Given the description of an element on the screen output the (x, y) to click on. 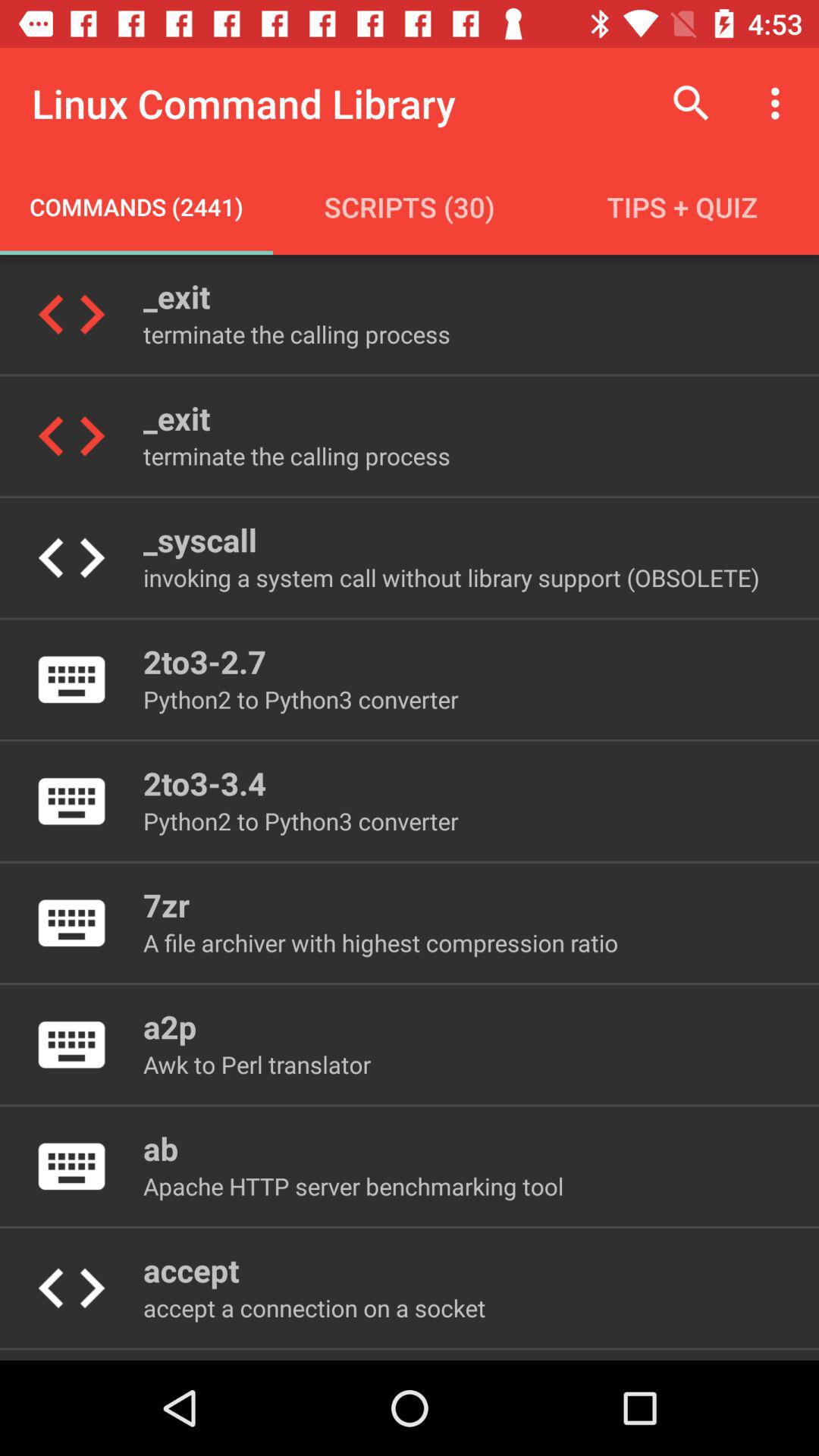
open the invoking a system item (451, 577)
